Given the description of an element on the screen output the (x, y) to click on. 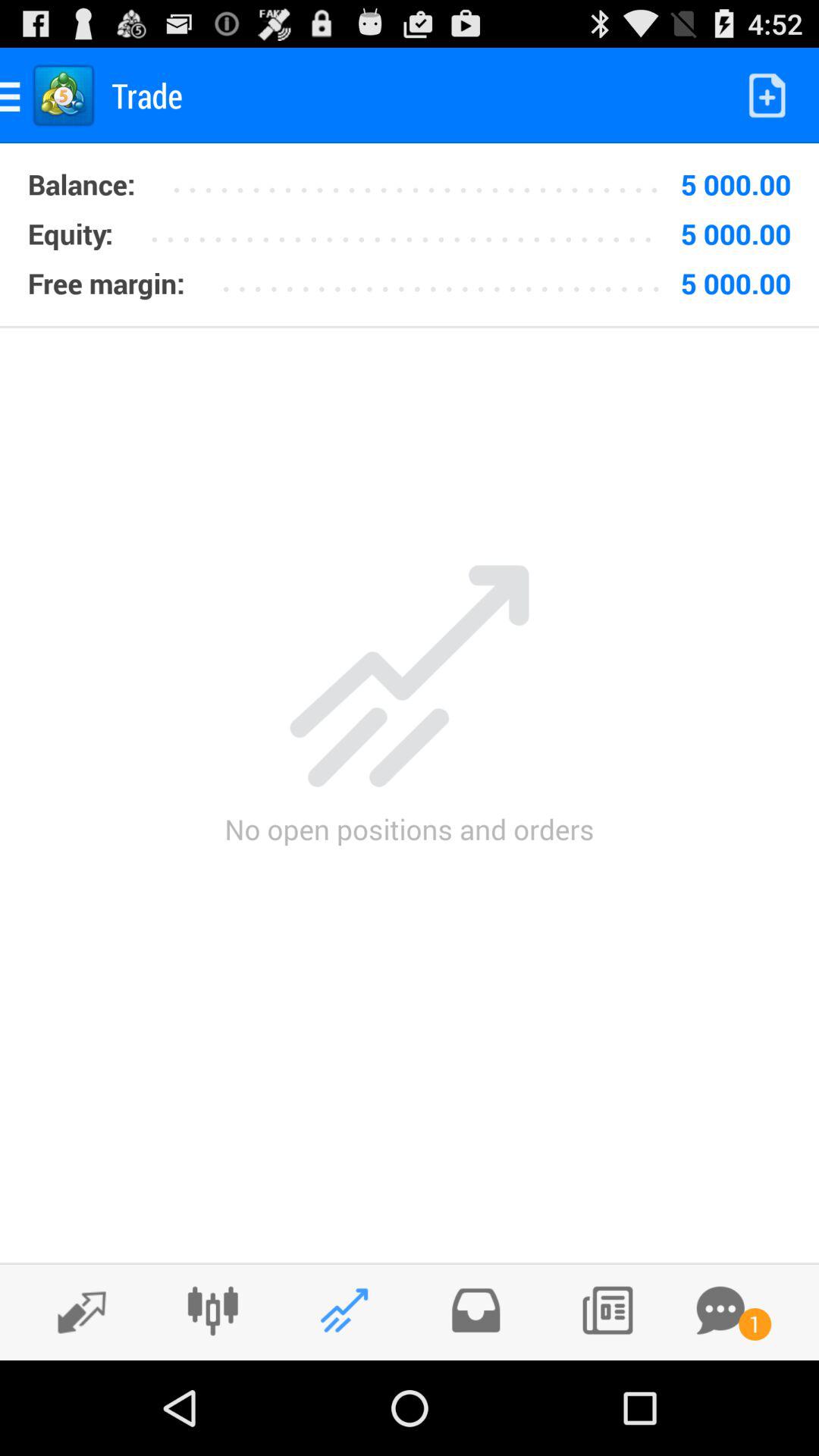
tap the item below equity: item (105, 283)
